Given the description of an element on the screen output the (x, y) to click on. 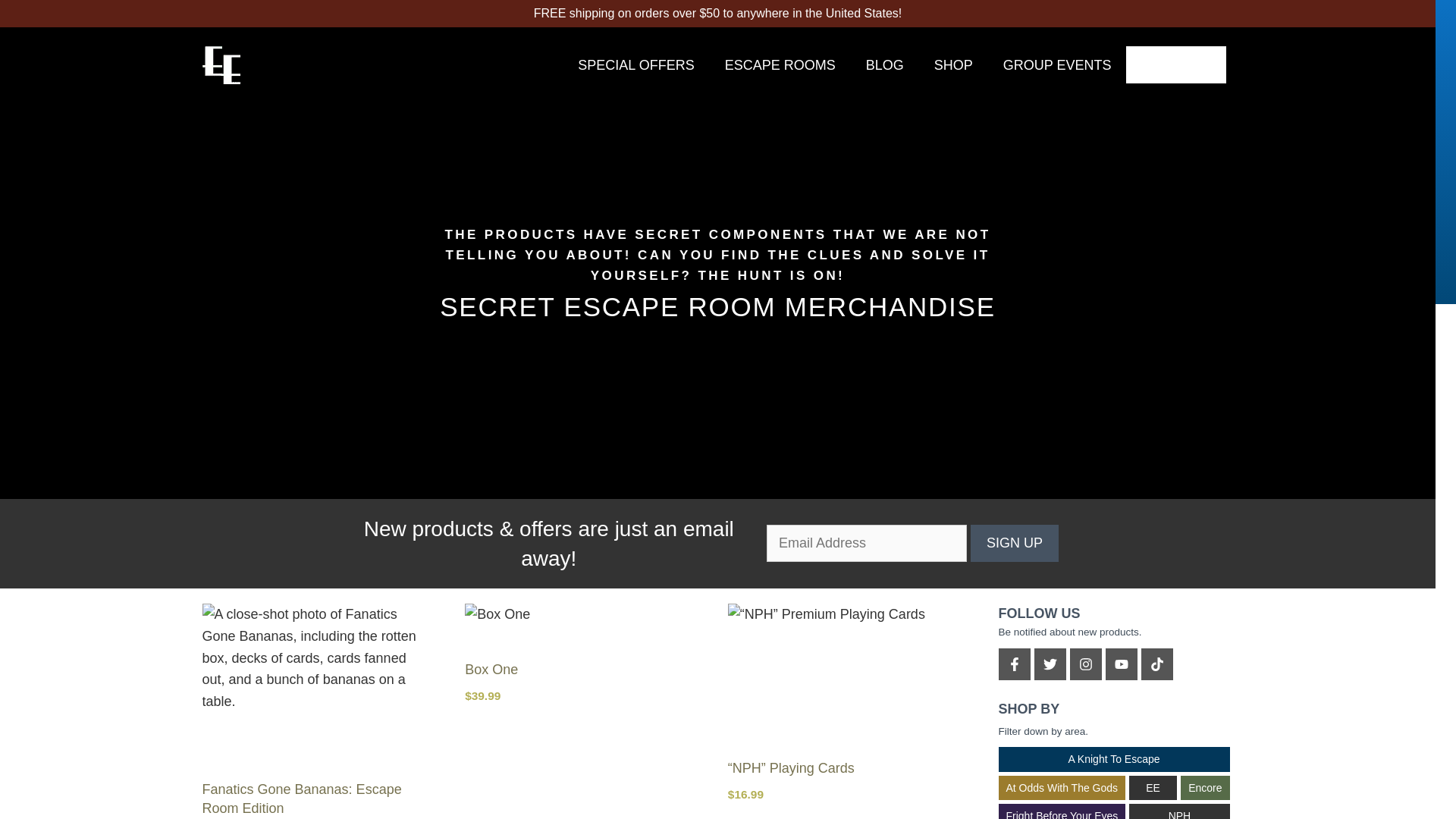
ESCAPE ROOMS (780, 64)
BLOG (884, 64)
SPECIAL OFFERS (635, 64)
GROUP EVENTS (1057, 64)
BOOK NOW (1175, 64)
Sign up (1014, 542)
SHOP (953, 64)
Sign up (1014, 542)
